Given the description of an element on the screen output the (x, y) to click on. 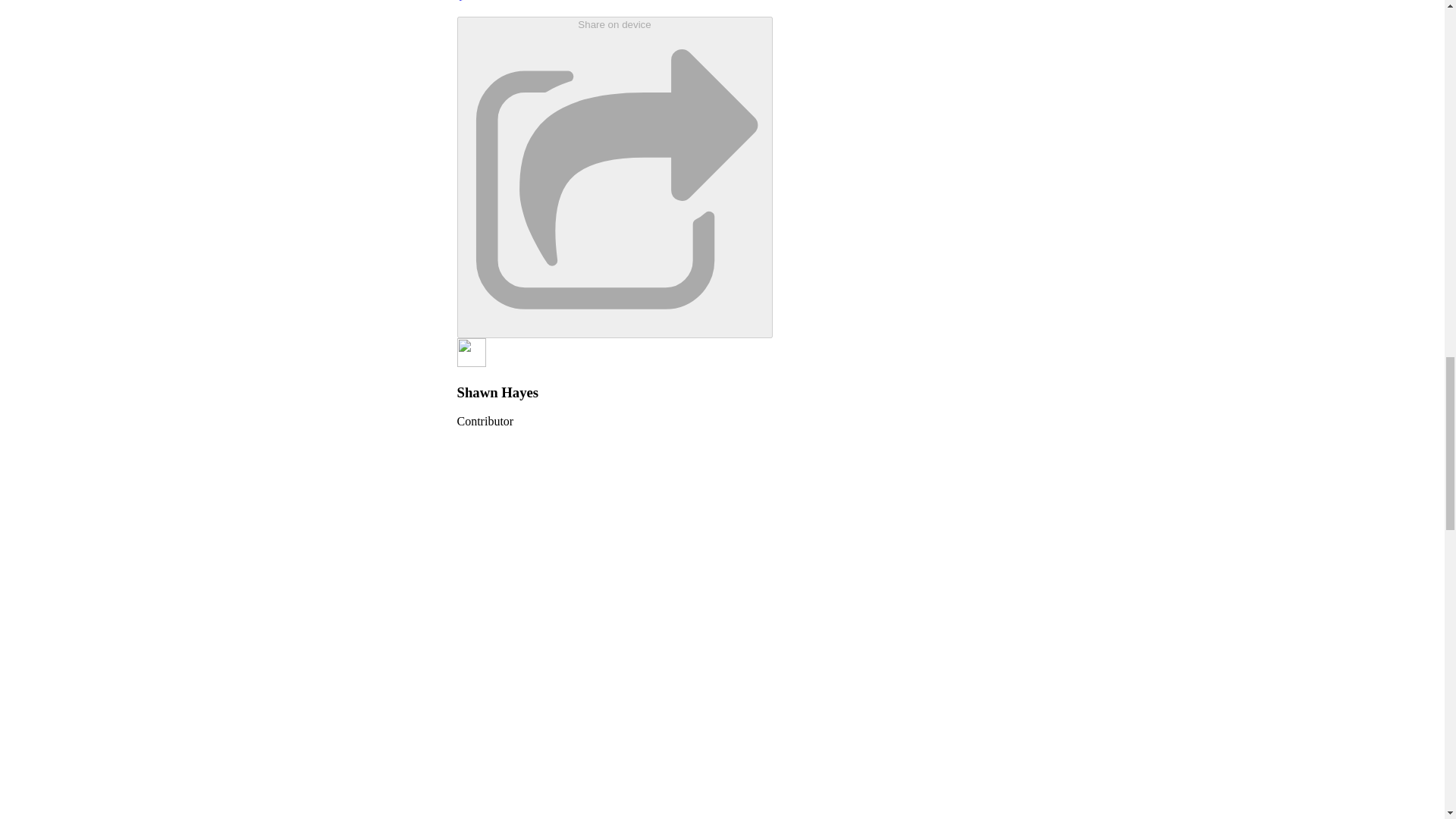
Share on WhatsApp whatsapp (703, 7)
whatsapp (703, 6)
Share on device (614, 177)
